Given the description of an element on the screen output the (x, y) to click on. 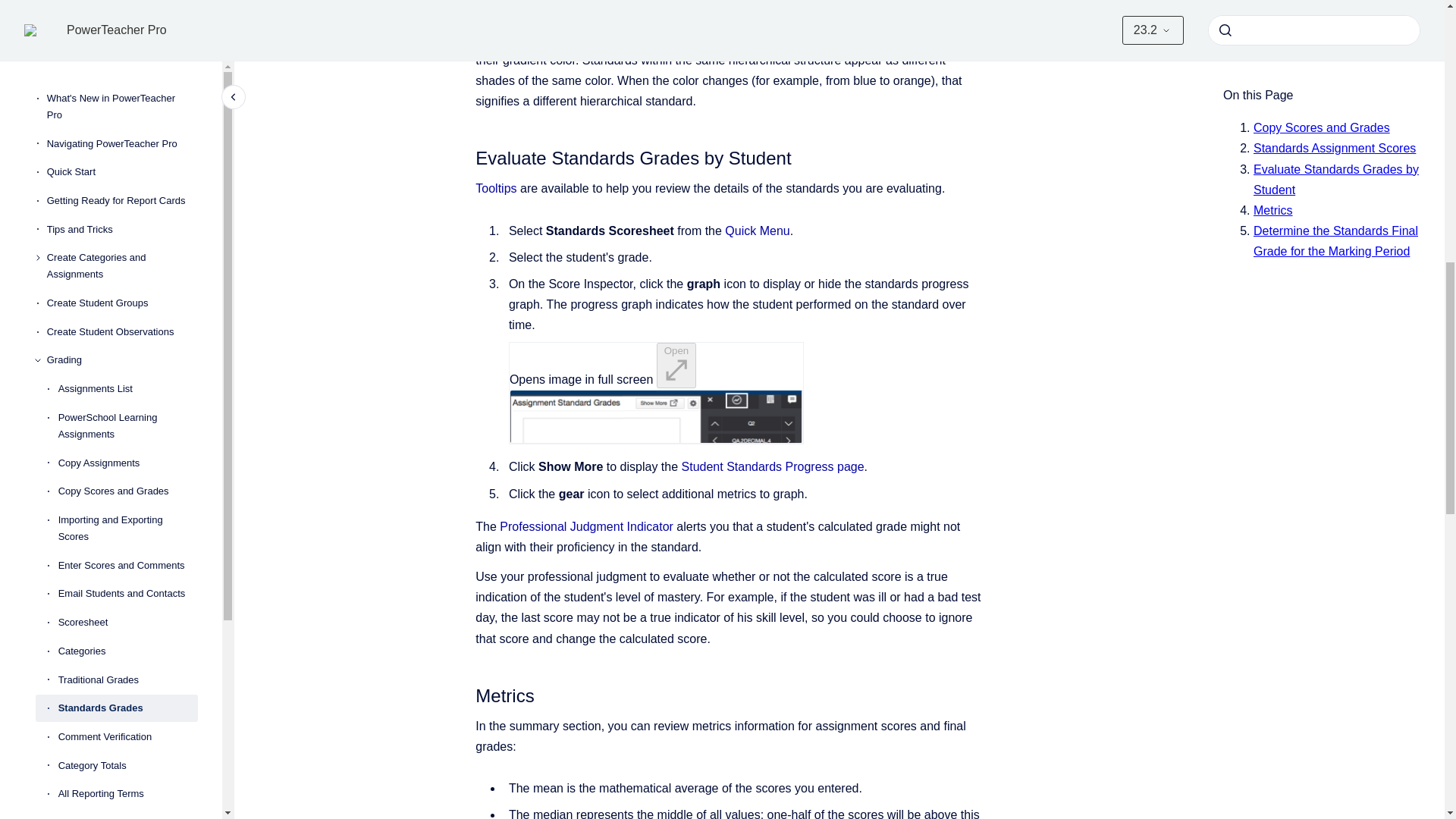
Students (122, 106)
Class (122, 78)
Progress (122, 135)
Final Grade Status (128, 9)
Recalculate Final Grades and Refresh Assignment Scores (128, 41)
